Given the description of an element on the screen output the (x, y) to click on. 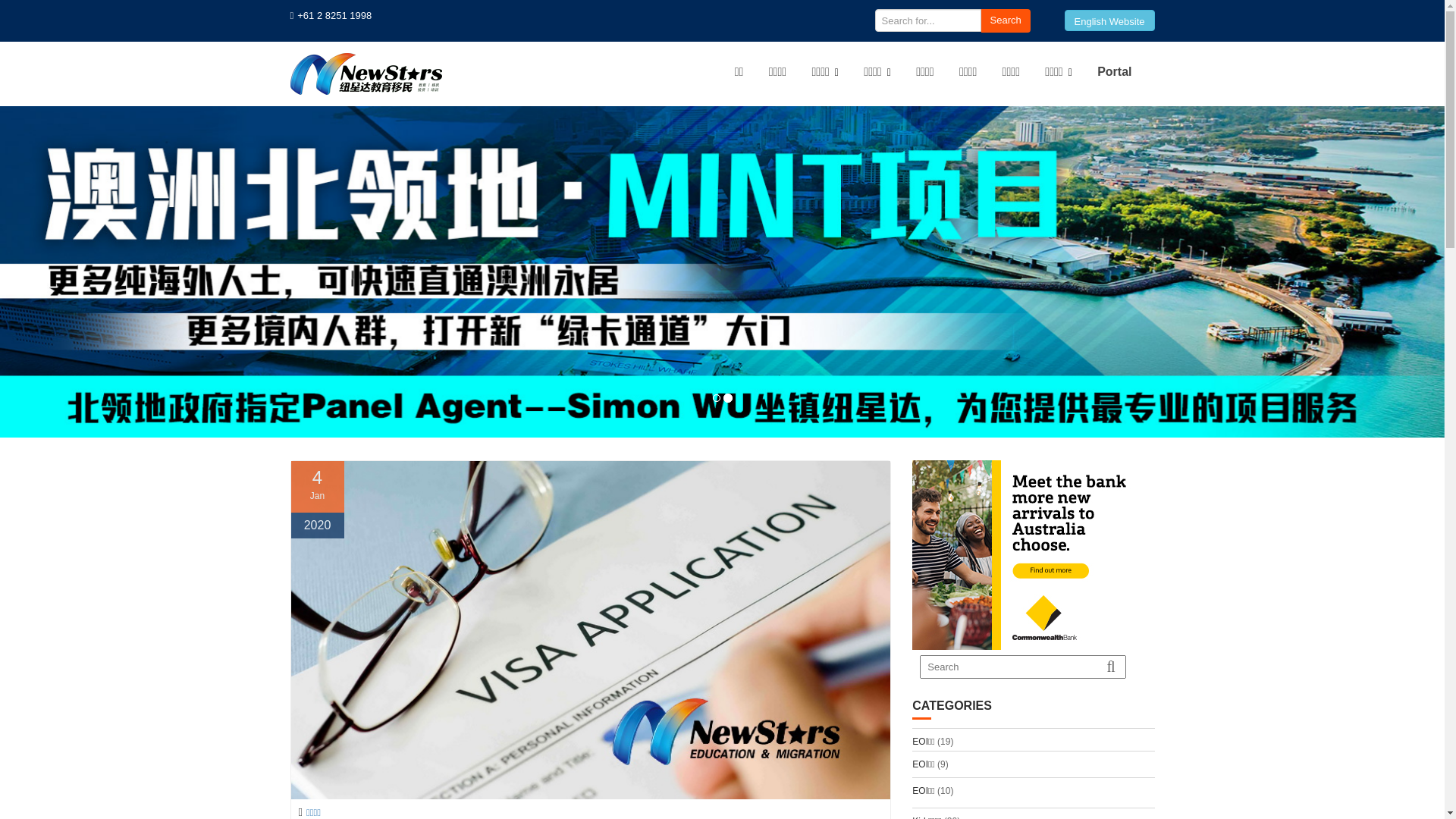
Skip to content Element type: text (0, 0)
Portal Element type: text (1113, 72)
+61 2 8251 1998 Element type: text (334, 15)
English Website Element type: text (1109, 20)
Search Element type: text (1005, 20)
